Given the description of an element on the screen output the (x, y) to click on. 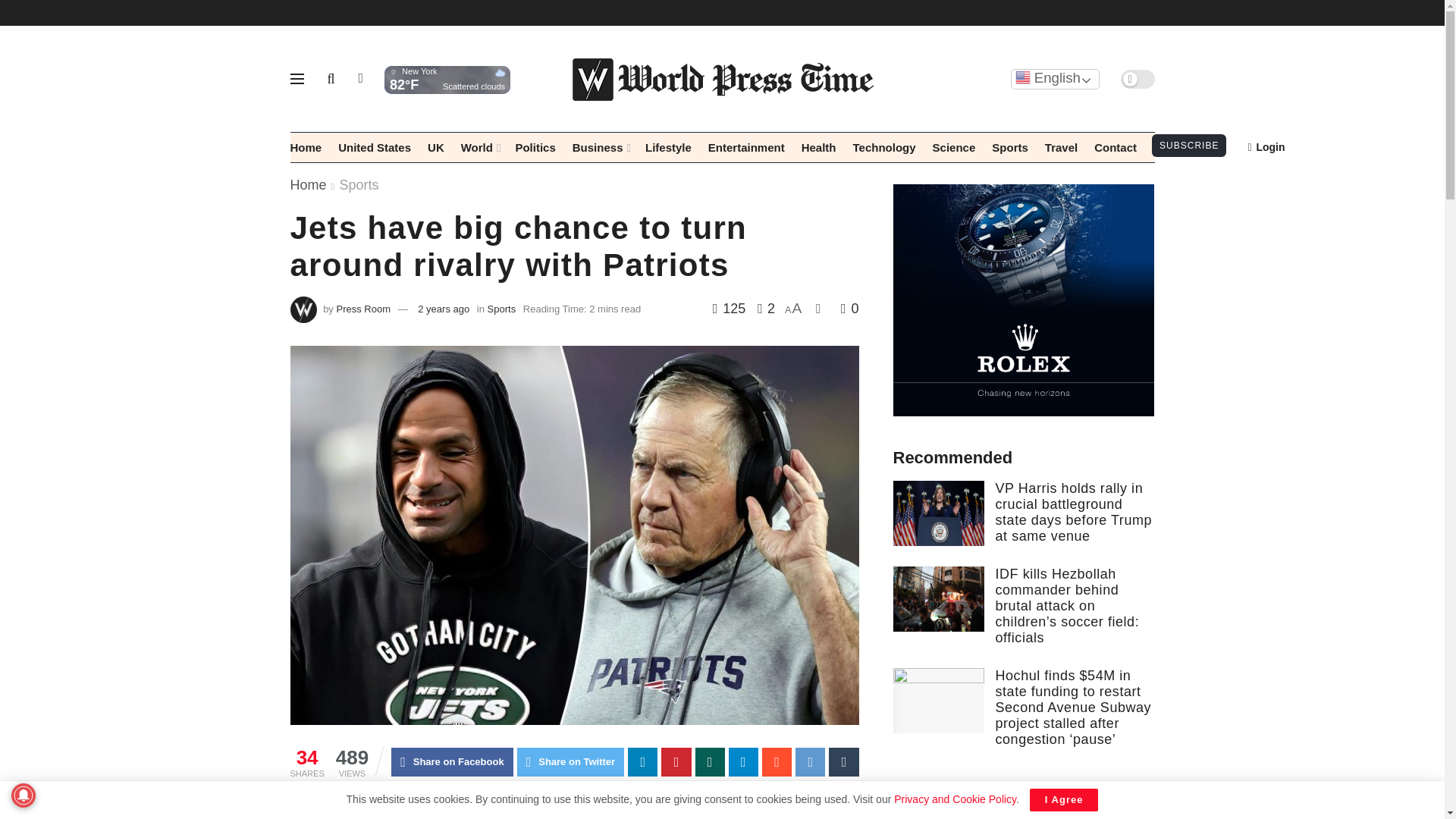
Home (305, 147)
Entertainment (745, 147)
World (480, 147)
Politics (534, 147)
Sports (1009, 147)
Technology (884, 147)
Health (818, 147)
Travel (1061, 147)
Lifestyle (668, 147)
SUBSCRIBE (1188, 145)
Business (600, 147)
Login (1265, 147)
Contact (1115, 147)
English (1054, 77)
United States (373, 147)
